Given the description of an element on the screen output the (x, y) to click on. 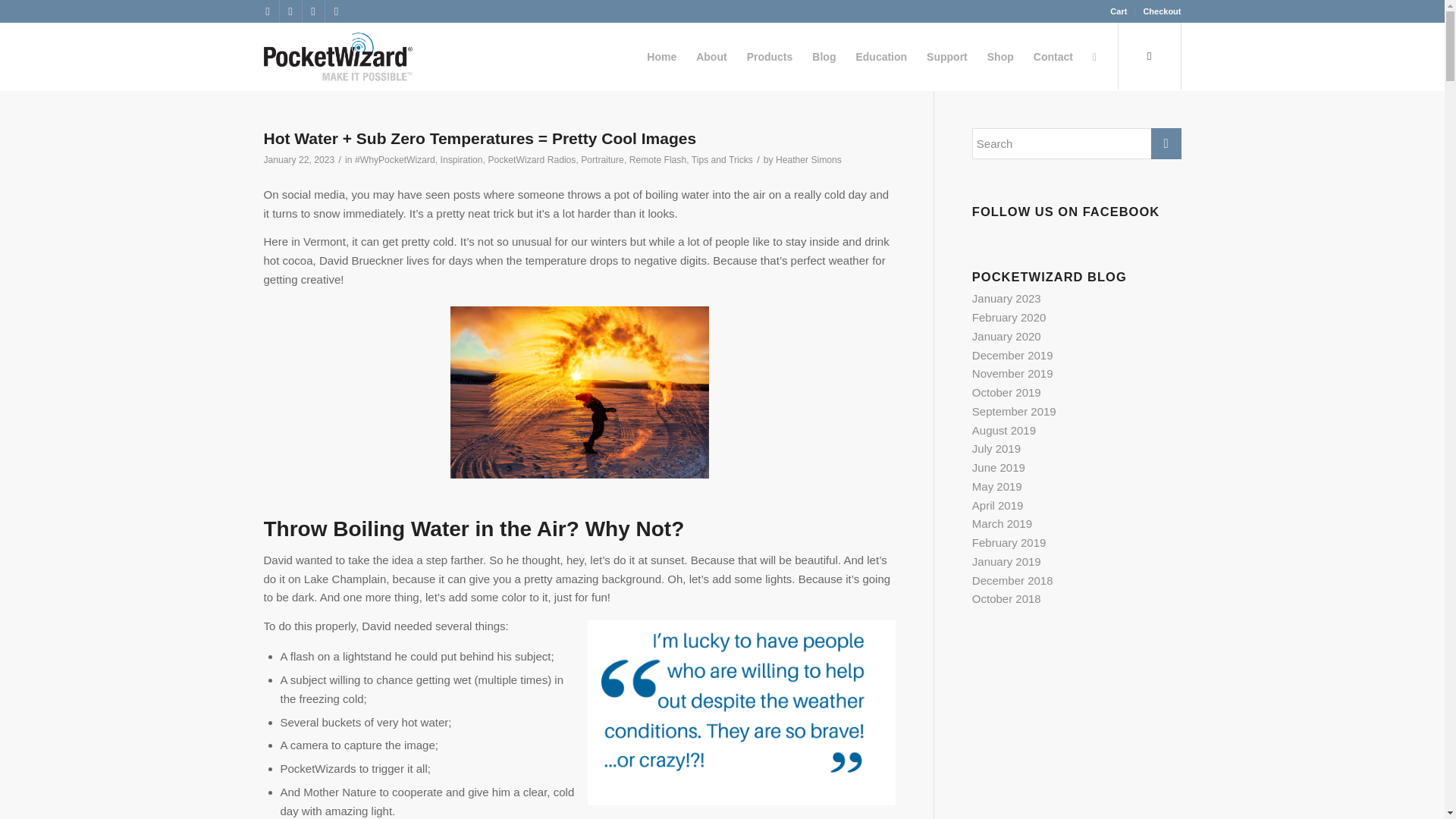
Checkout (1161, 11)
Instagram (335, 11)
Facebook (290, 11)
Education (881, 56)
Products (769, 56)
Posts by Heather Simons (808, 159)
Youtube (312, 11)
Twitter (267, 11)
